Given the description of an element on the screen output the (x, y) to click on. 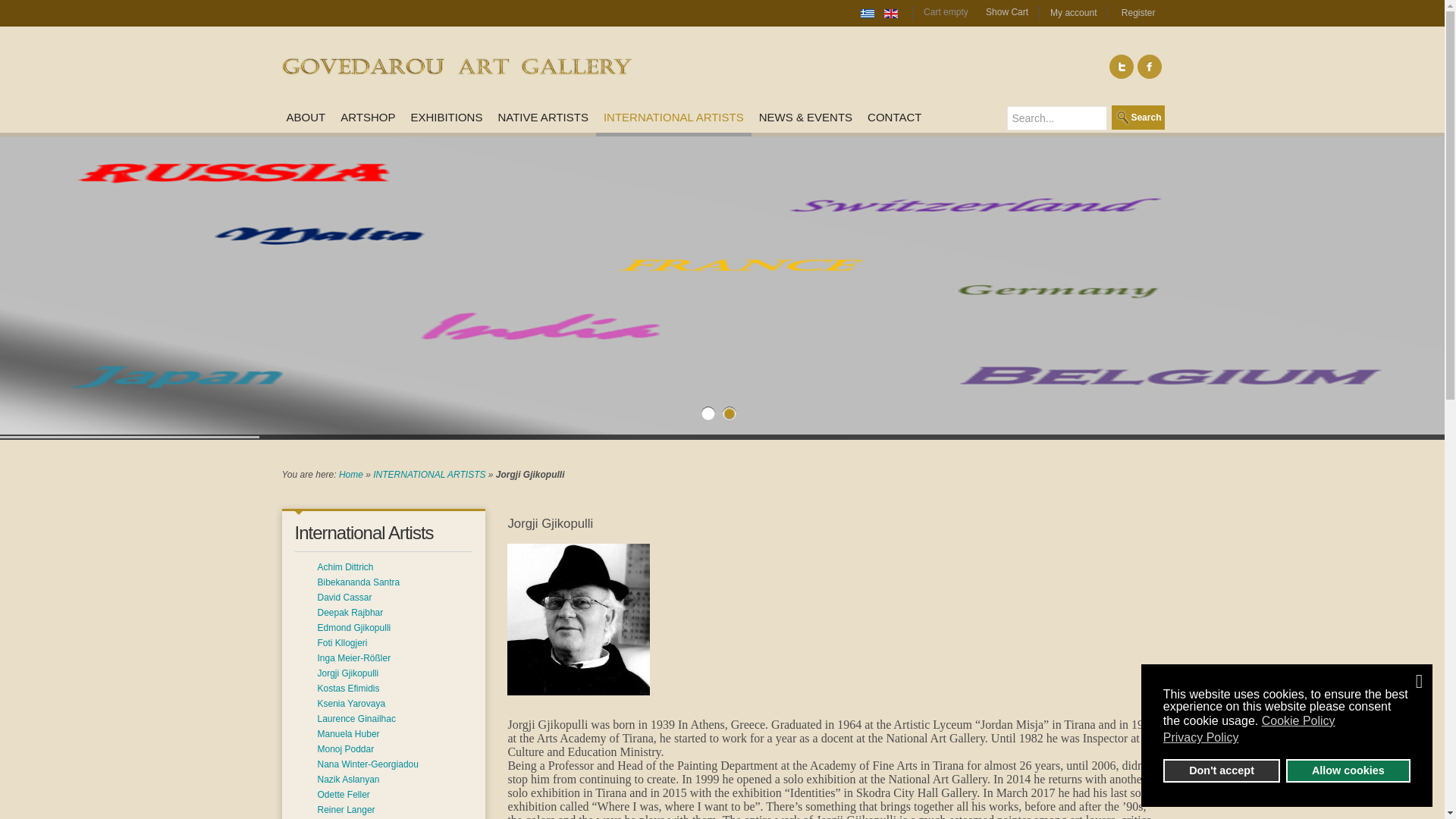
Don't accept (1222, 770)
INTERNATIONAL ARTISTS (428, 474)
Bibekananda Santra (357, 582)
Achim Dittrich (344, 566)
Home (350, 474)
Facebook (1149, 66)
Follow Us (1121, 66)
Allow cookies (1347, 770)
My account (1072, 12)
Privacy Policy (1202, 737)
Twitter (1121, 66)
Show Cart (1002, 11)
Search (1138, 117)
en (890, 13)
Register (1138, 12)
